Given the description of an element on the screen output the (x, y) to click on. 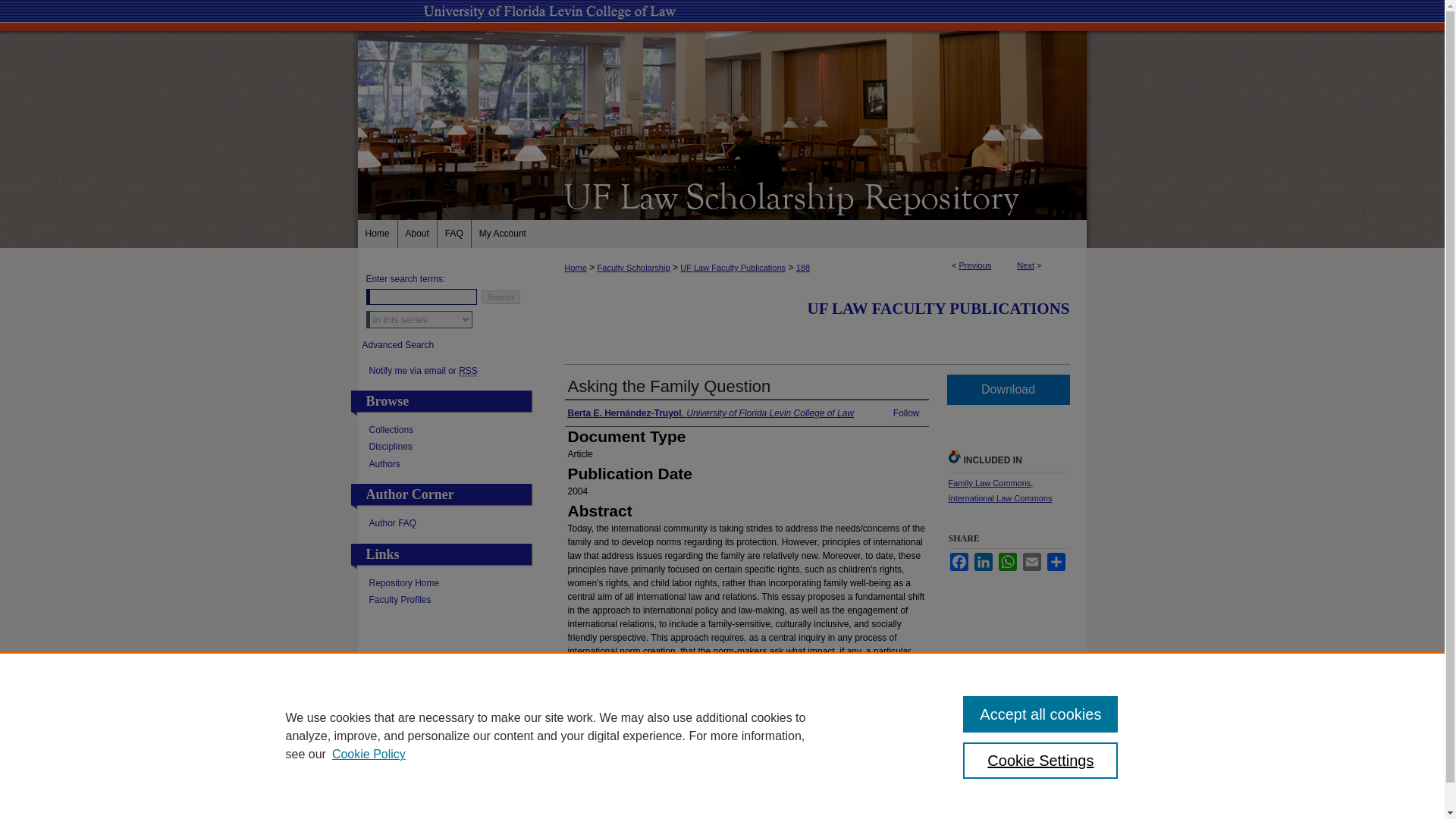
Next (1024, 265)
Facebook (958, 561)
Search (500, 296)
Search (500, 296)
Previous (975, 265)
Asking the Family Question (668, 385)
My Account (502, 234)
FAQ (454, 234)
Home (575, 266)
UF Law Scholarship Repository (721, 195)
188 (802, 266)
My Account (502, 234)
Family Law Commons (988, 482)
Faculty Scholarship (632, 266)
UF LAW FACULTY PUBLICATIONS (939, 308)
